Given the description of an element on the screen output the (x, y) to click on. 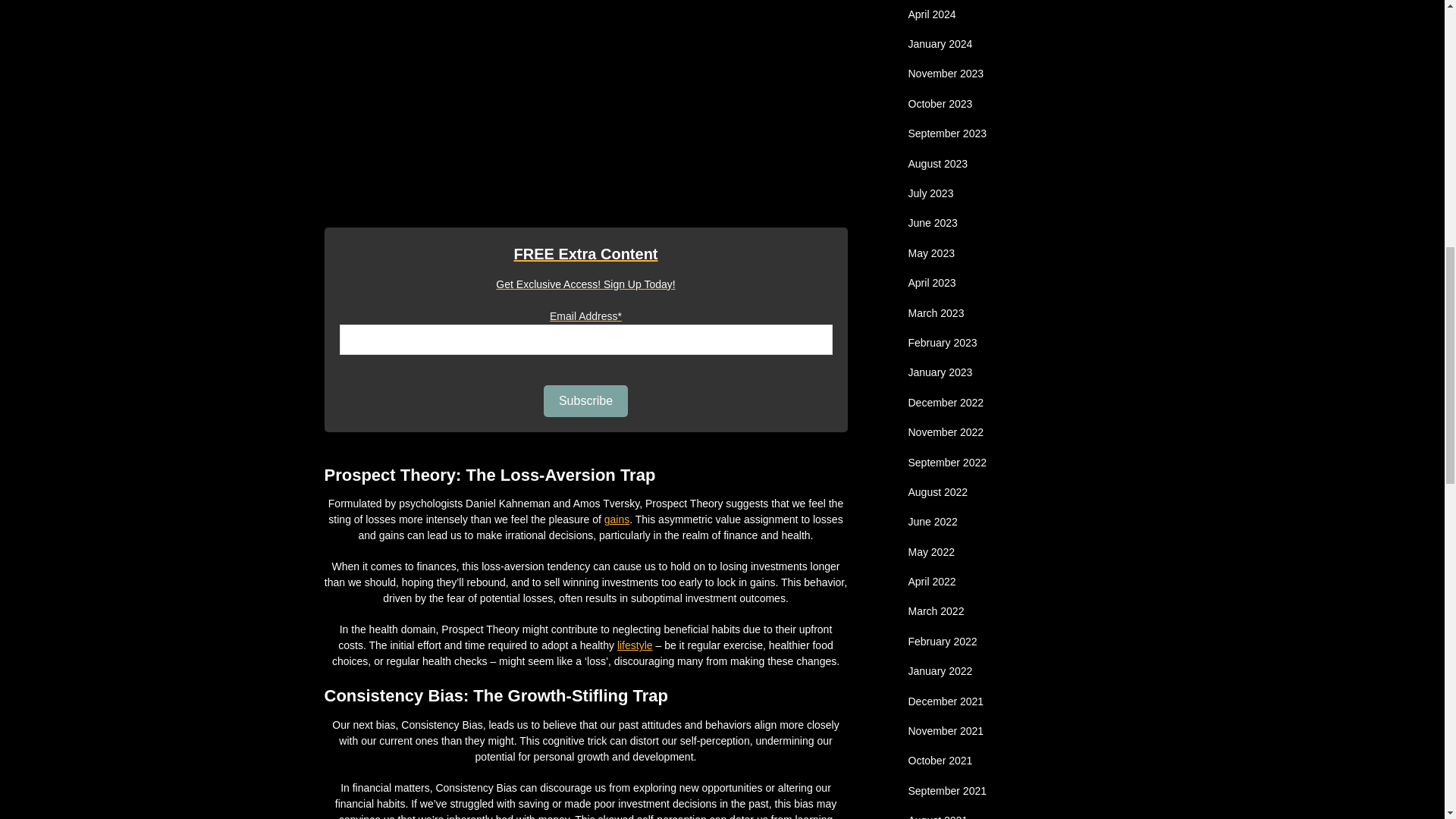
January 2024 (940, 43)
November 2023 (946, 73)
Subscribe (585, 400)
April 2023 (932, 282)
April 2024 (932, 14)
July 2023 (930, 193)
September 2023 (947, 133)
gains (616, 519)
February 2023 (942, 342)
March 2023 (935, 313)
